Given the description of an element on the screen output the (x, y) to click on. 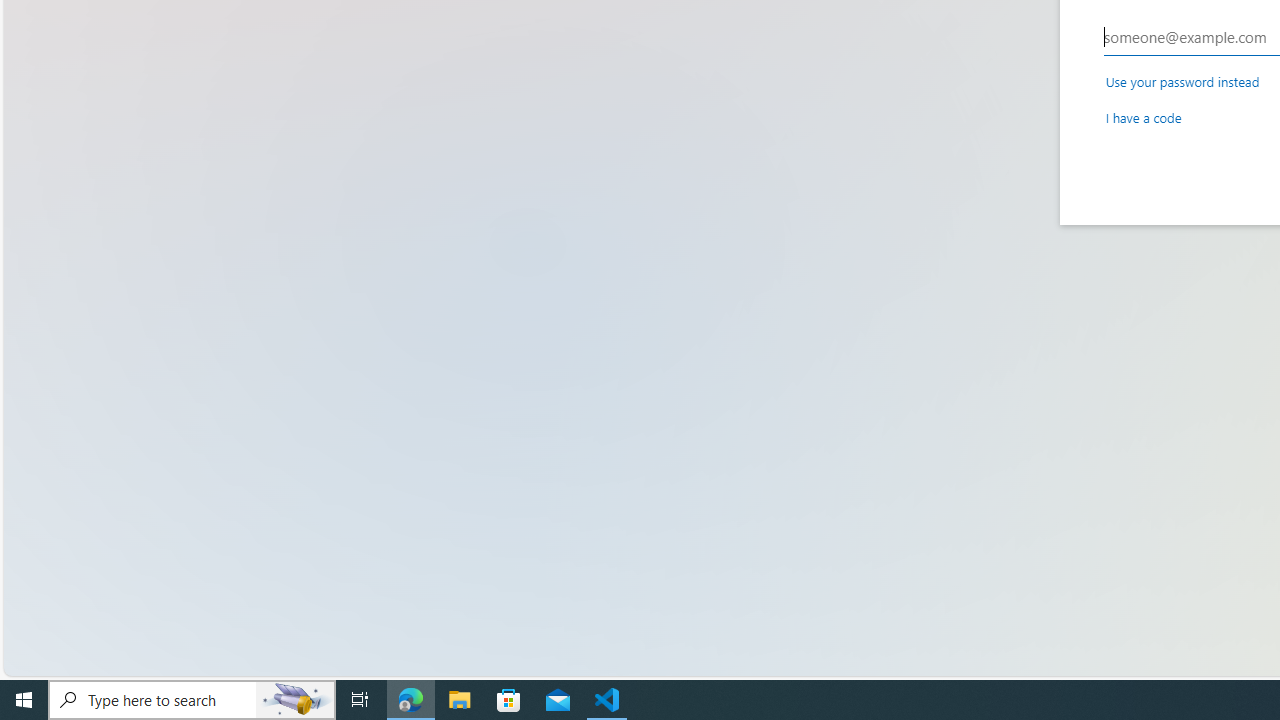
Use your password instead (1182, 81)
I have a code (1143, 116)
